Given the description of an element on the screen output the (x, y) to click on. 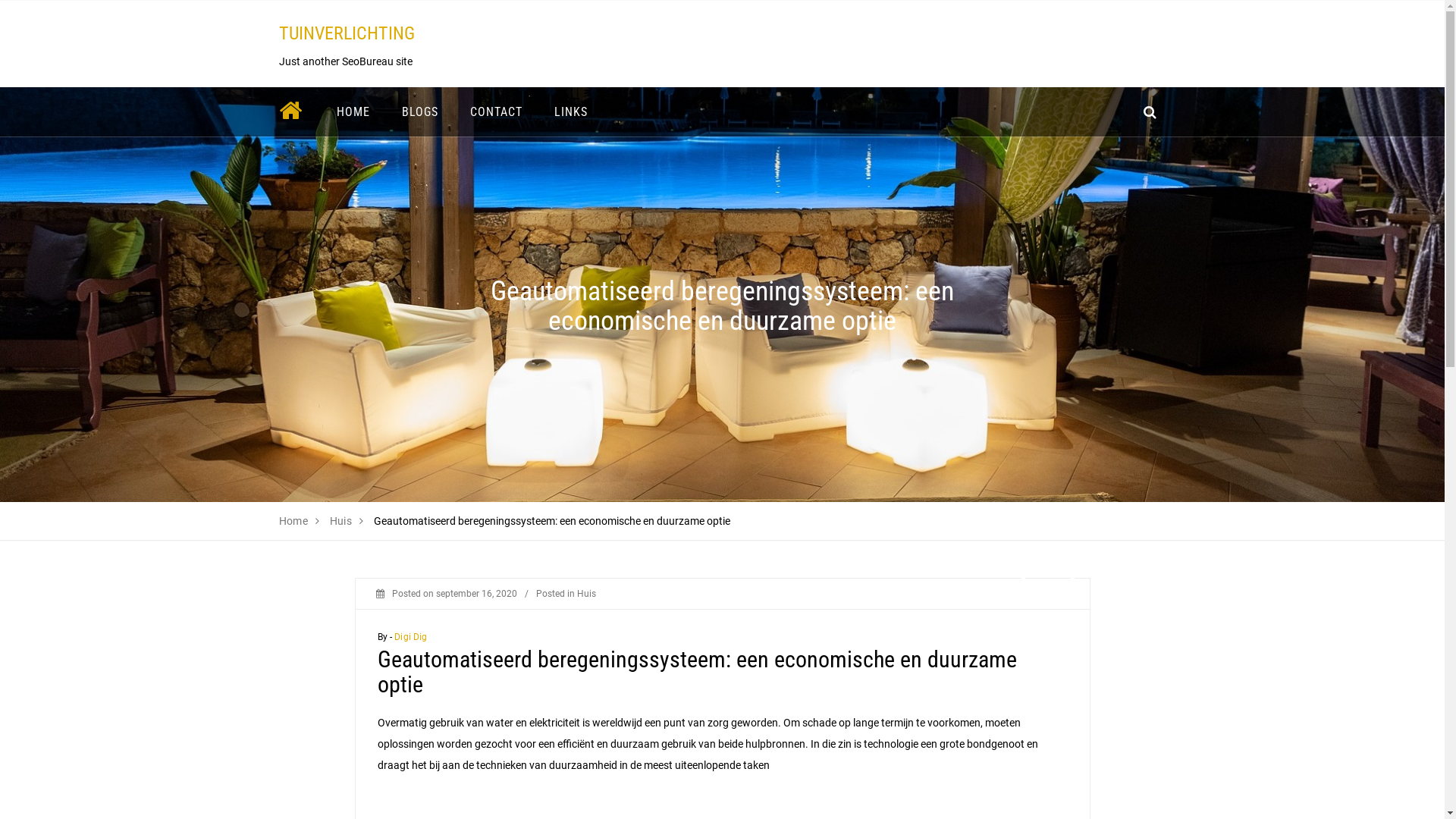
TUINVERLICHTING Element type: text (346, 32)
Digi Dig Element type: text (410, 636)
Huis Element type: text (585, 593)
Huis Element type: text (340, 520)
search_icon Element type: hover (1148, 111)
LINKS Element type: text (570, 111)
september 16, 2020 Element type: text (475, 593)
CONTACT Element type: text (495, 111)
BLOGS Element type: text (419, 111)
HOME Element type: text (352, 111)
Home Element type: text (293, 520)
